Given the description of an element on the screen output the (x, y) to click on. 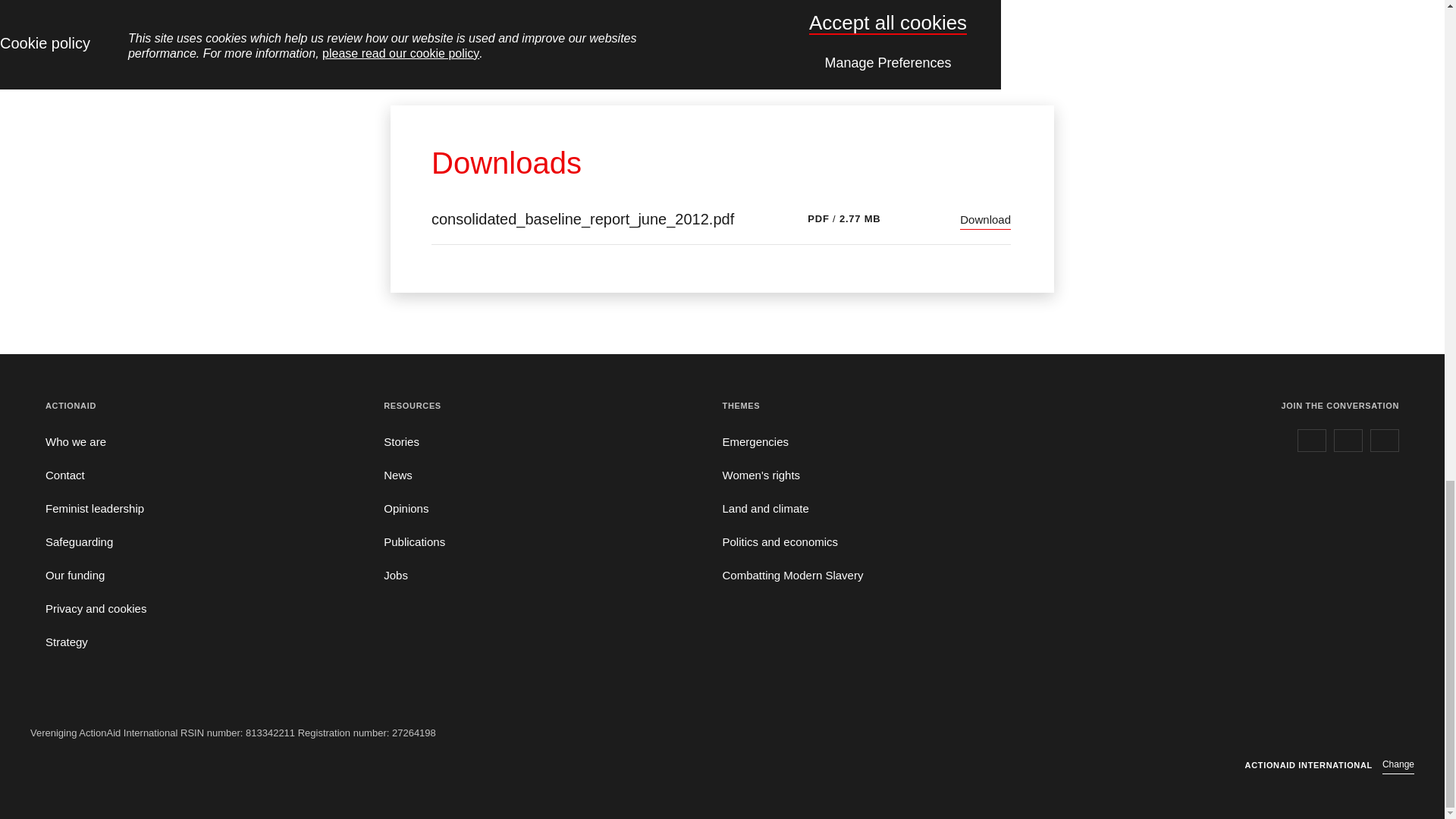
Facebook (1311, 440)
Change country (1397, 765)
Youtube (1384, 440)
Twitter (1347, 440)
About our feminist leadership principles (94, 508)
ActionAid International Home (1350, 733)
